Given the description of an element on the screen output the (x, y) to click on. 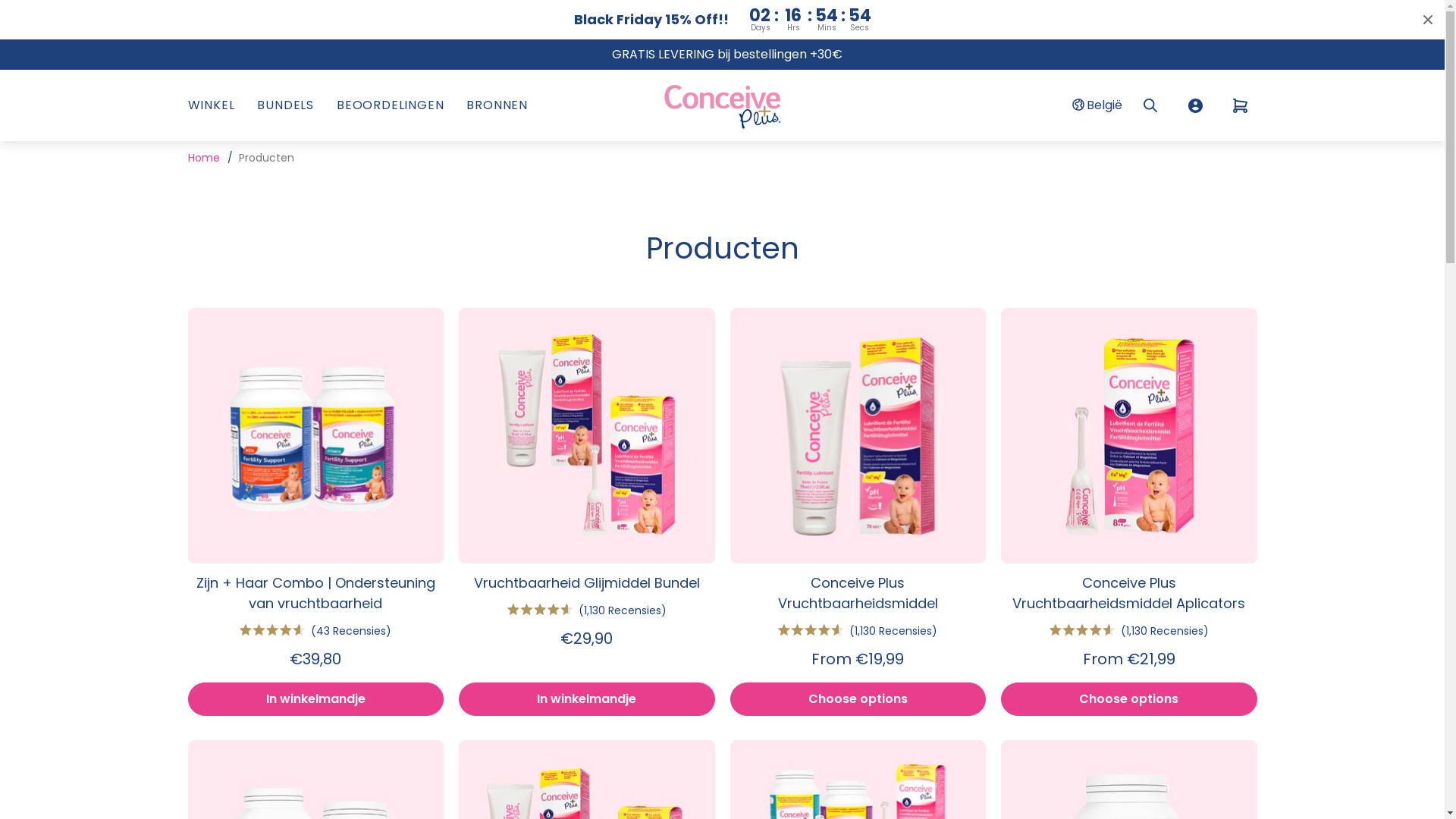
Choose options Element type: text (1129, 698)
In winkelmandje Element type: text (586, 698)
Conceive Plus Vruchtbaarheidsmiddel Aplicators Element type: text (1129, 592)
BUNDELS Element type: text (285, 104)
Go to account page Element type: text (1194, 105)
BEOORDELINGEN Element type: text (389, 104)
Conceive Plus Vruchtbaarheidsmiddel Element type: text (857, 592)
Zijn + Haar Combo | Ondersteuning van vruchtbaarheid Element type: text (316, 592)
Home Element type: text (205, 157)
Choose options Element type: text (857, 698)
Vruchtbaarheid Glijmiddel Bundel Element type: text (586, 582)
In winkelmandje Element type: text (316, 698)
